Given the description of an element on the screen output the (x, y) to click on. 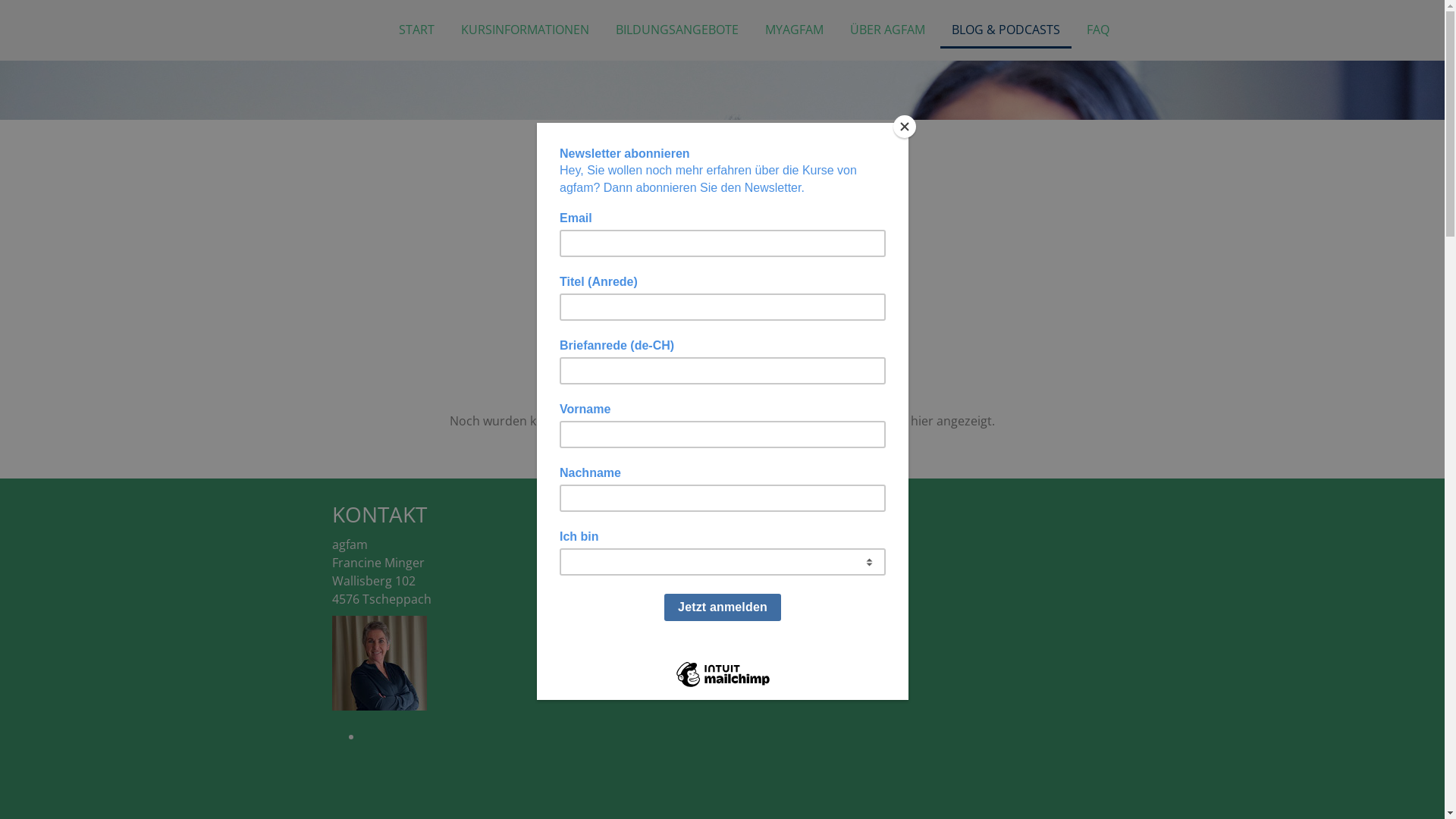
KURSINFORMATIONEN Element type: text (523, 29)
BLOG & PODCASTS Element type: text (1005, 29)
START Element type: text (415, 29)
Zur Startseite Element type: text (722, 446)
MYAGFAM Element type: text (793, 29)
BILDUNGSANGEBOTE Element type: text (676, 29)
FAQ Element type: text (1097, 29)
